Given the description of an element on the screen output the (x, y) to click on. 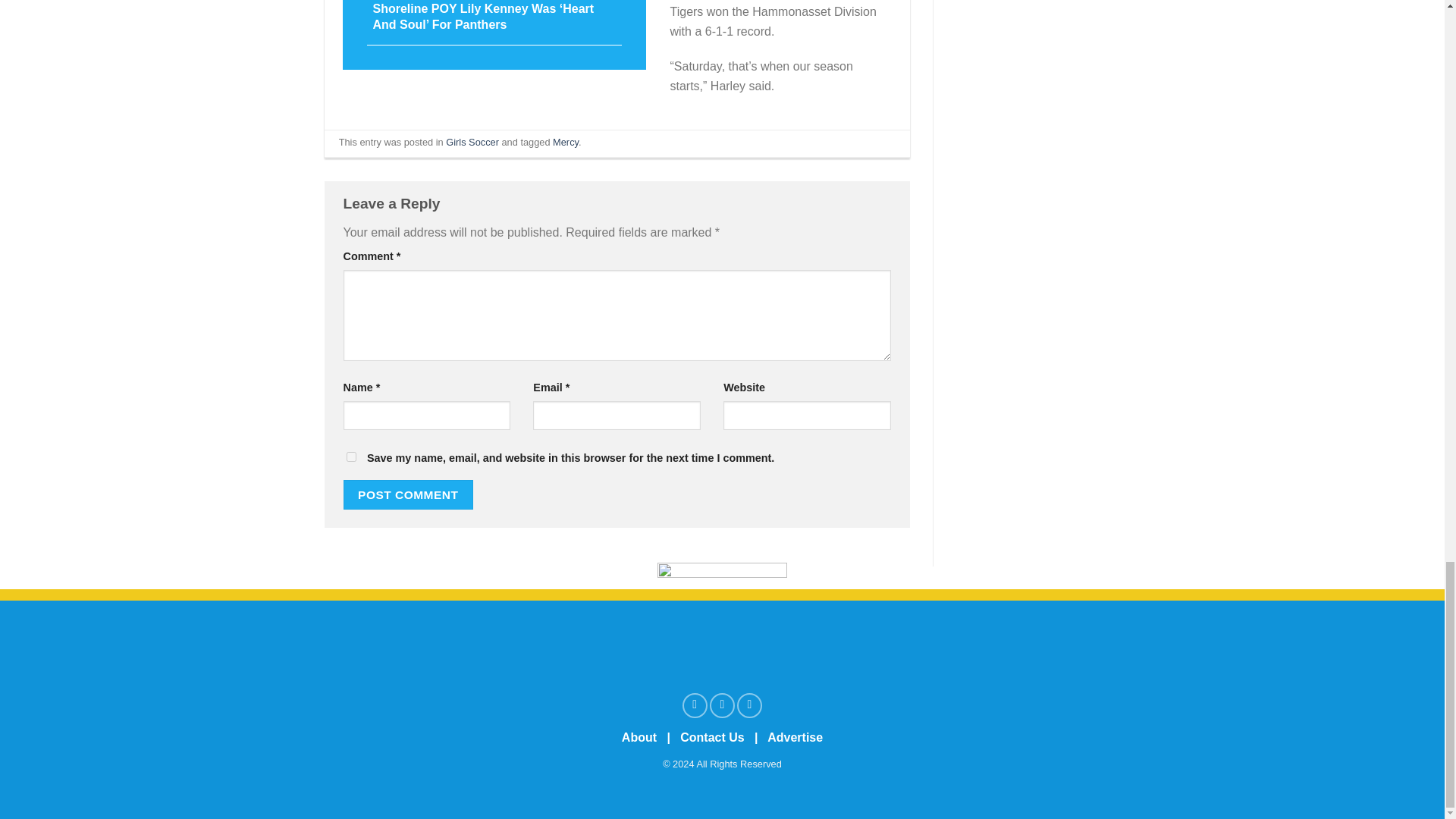
yes (350, 456)
Follow on Facebook (694, 705)
Post Comment (407, 494)
